Given the description of an element on the screen output the (x, y) to click on. 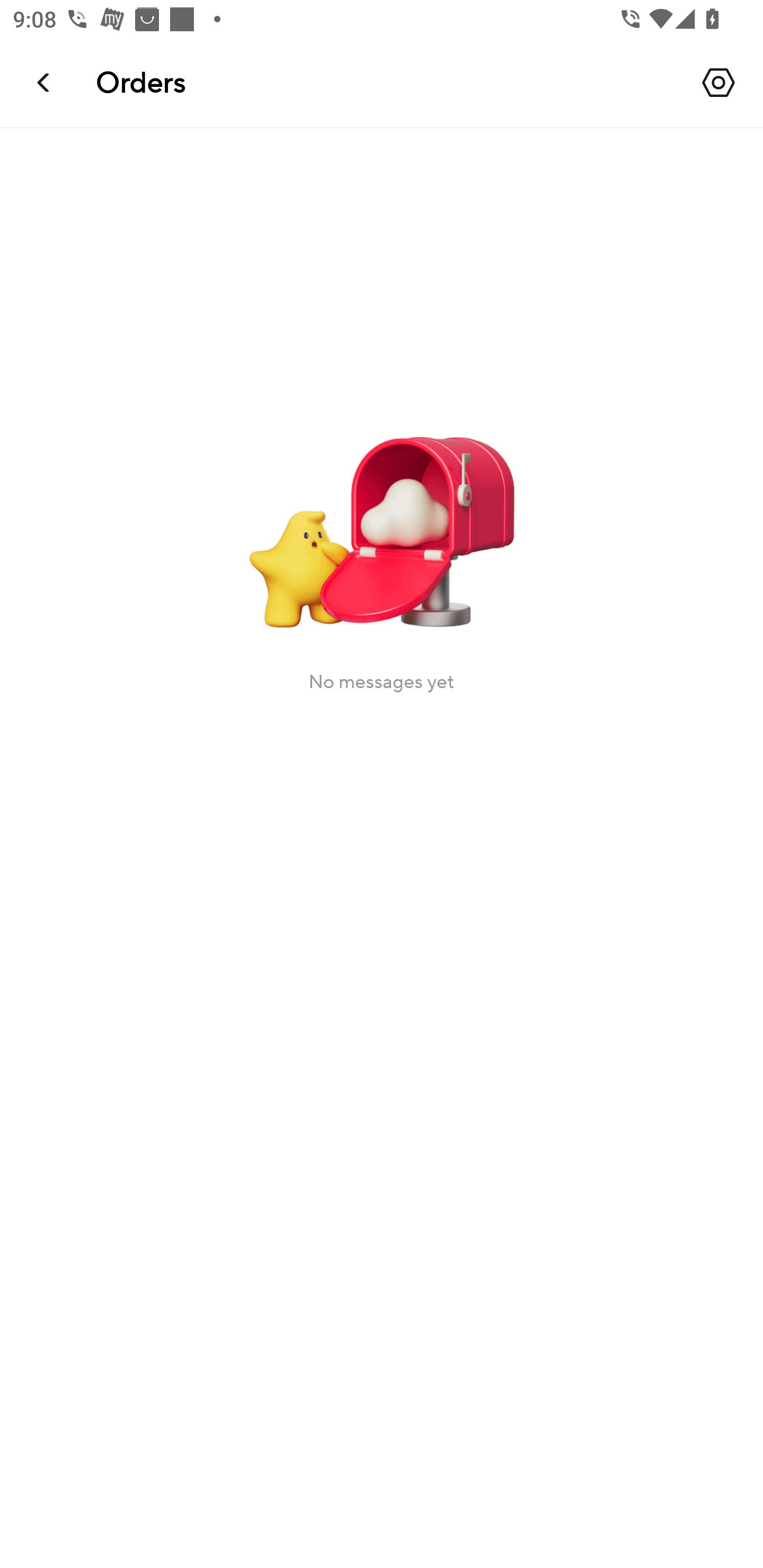
Navigate up (44, 82)
